Given the description of an element on the screen output the (x, y) to click on. 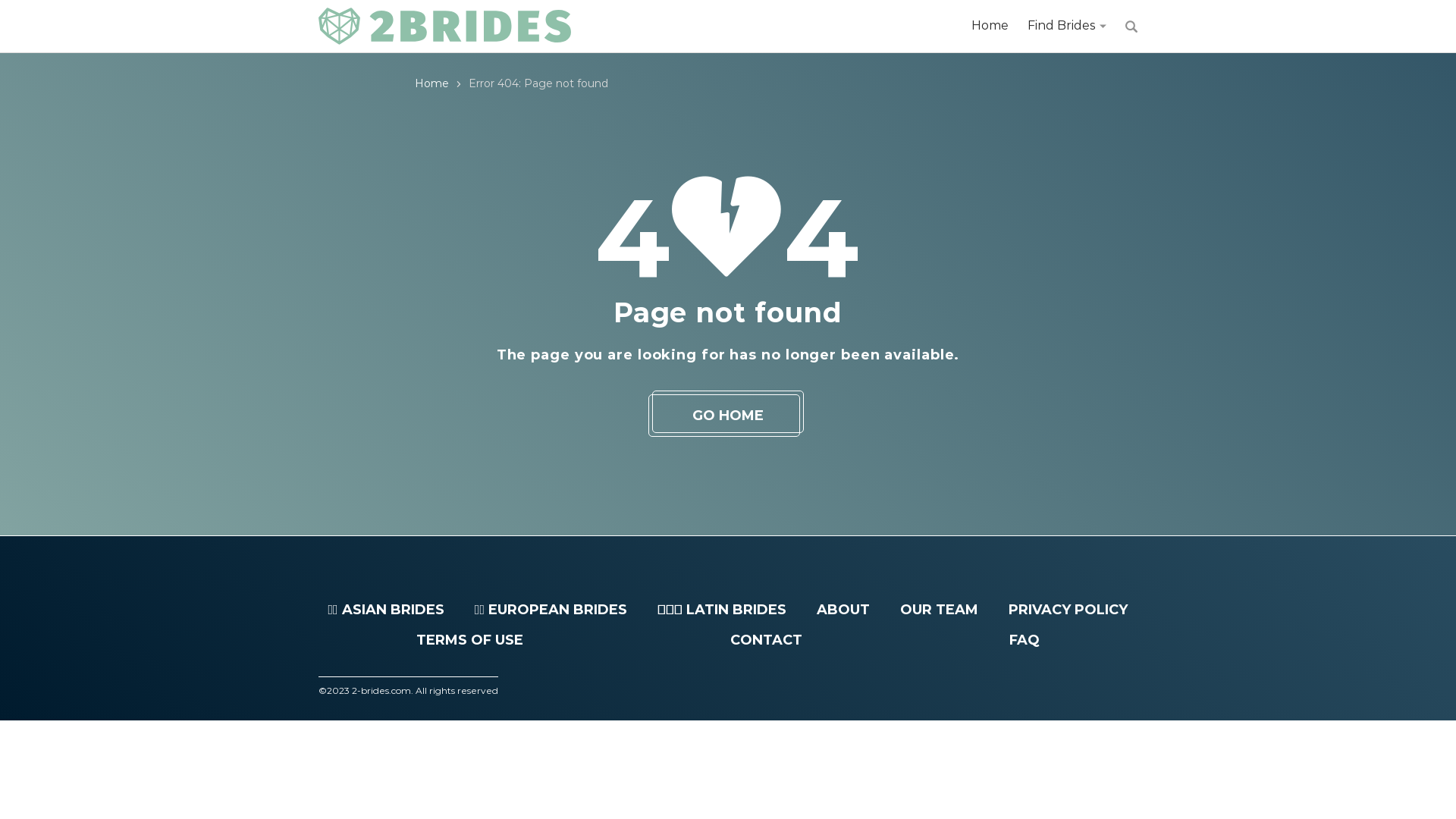
OUR TEAM Element type: text (939, 609)
PRIVACY POLICY Element type: text (1067, 609)
FAQ Element type: text (1024, 639)
2Brides Element type: hover (444, 26)
GO HOME Element type: text (727, 415)
CONTACT Element type: text (766, 639)
Home Element type: text (989, 26)
Home Element type: text (431, 83)
ABOUT Element type: text (842, 609)
TERMS OF USE Element type: text (469, 639)
